Given the description of an element on the screen output the (x, y) to click on. 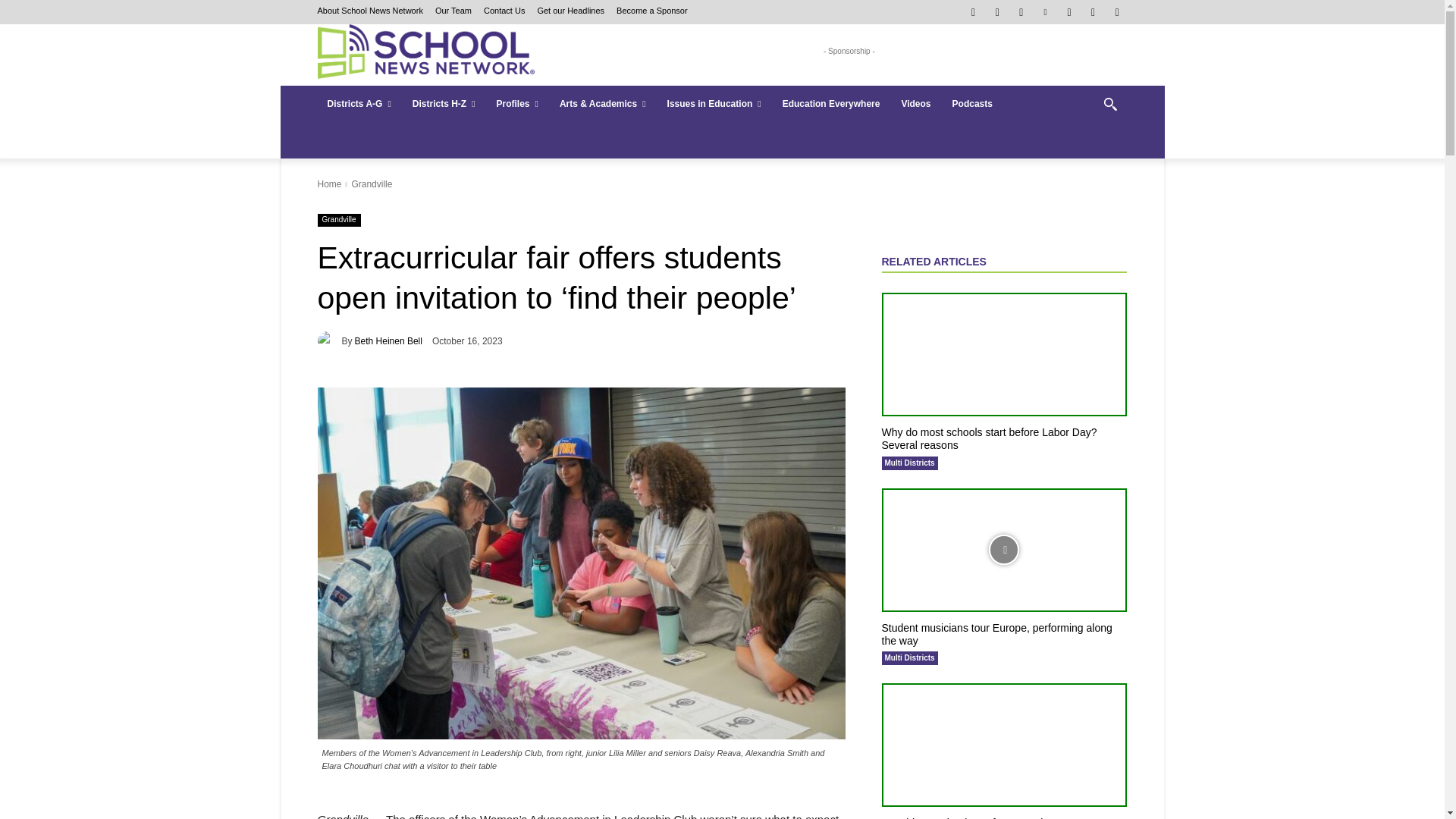
Mail (1021, 11)
Instagram (997, 11)
RSS (1069, 11)
Pinterest (1045, 11)
Facebook (973, 11)
